Given the description of an element on the screen output the (x, y) to click on. 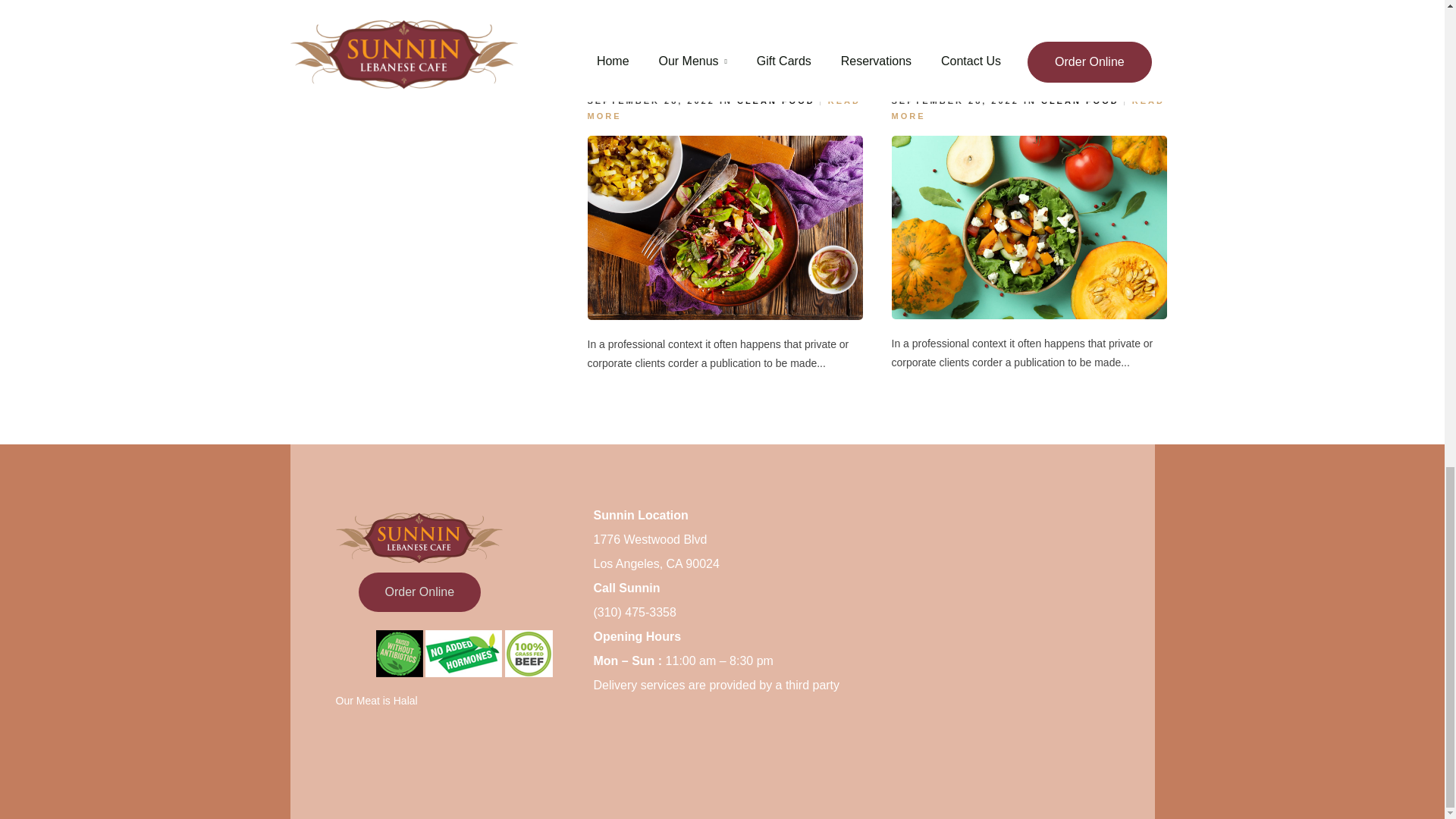
CLEAN FOOD (1080, 100)
CLEAN FOOD (775, 100)
A farm-to-table restaurant that uses all-natural ingredients (717, 62)
READ MORE (723, 108)
A farm-to-table restaurant that uses all-natural ingredients (717, 62)
READ MORE (1027, 108)
